Given the description of an element on the screen output the (x, y) to click on. 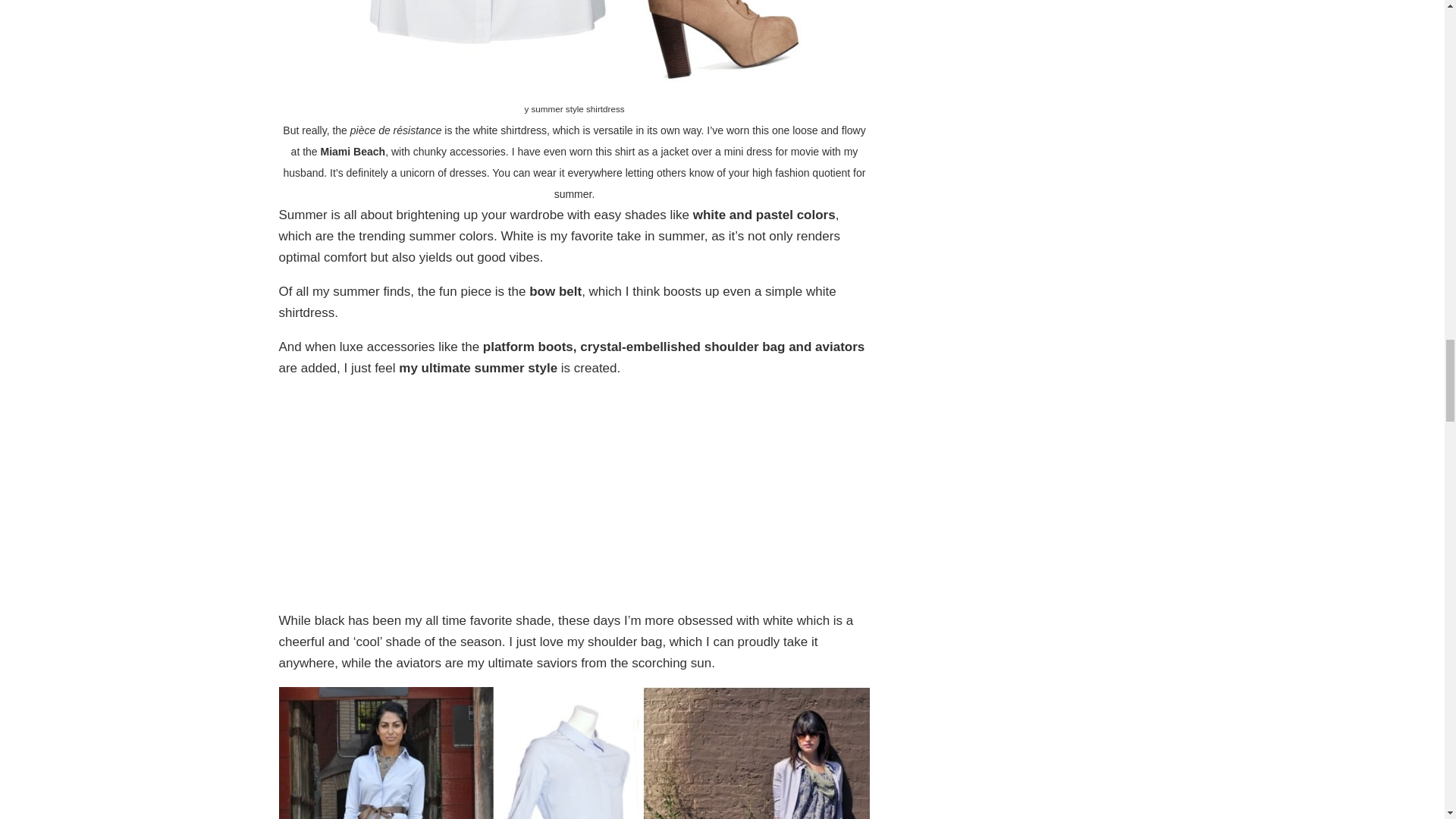
my summer style shirtdress (574, 41)
